Given the description of an element on the screen output the (x, y) to click on. 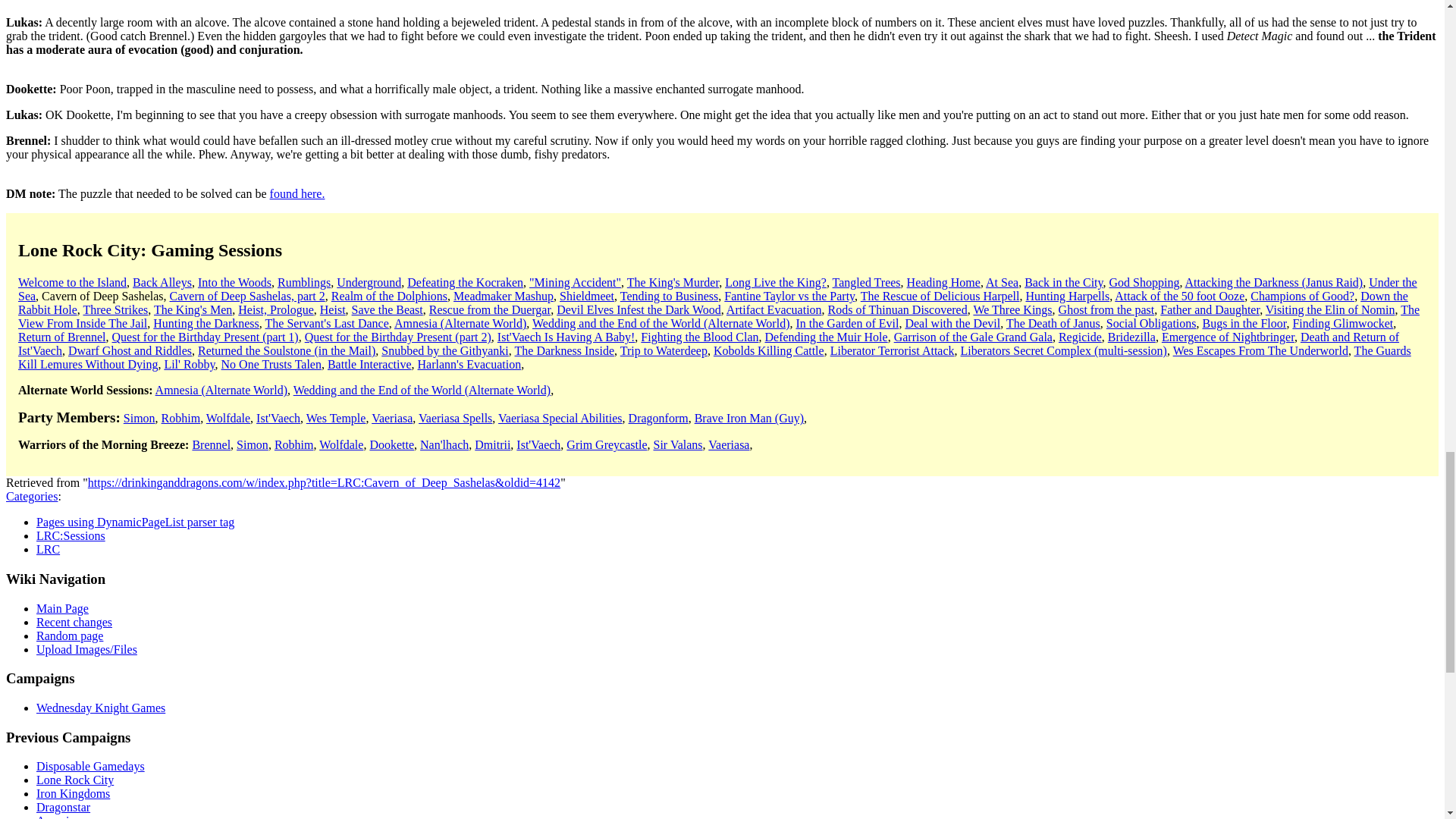
LRC:Into the Woods (234, 282)
Back Alleys (162, 282)
Under the Sea (716, 289)
Underground (368, 282)
The King's Murder (673, 282)
Back in the City (1063, 282)
Into the Woods (234, 282)
At Sea (1001, 282)
Tridentpuzzle.pdf (296, 193)
Heading Home (943, 282)
Cavern of Deep Sashelas (102, 295)
found here. (296, 193)
LRC:Rumblings (304, 282)
Defeating the Kocraken (464, 282)
LRC:Welcome to the Island (71, 282)
